Given the description of an element on the screen output the (x, y) to click on. 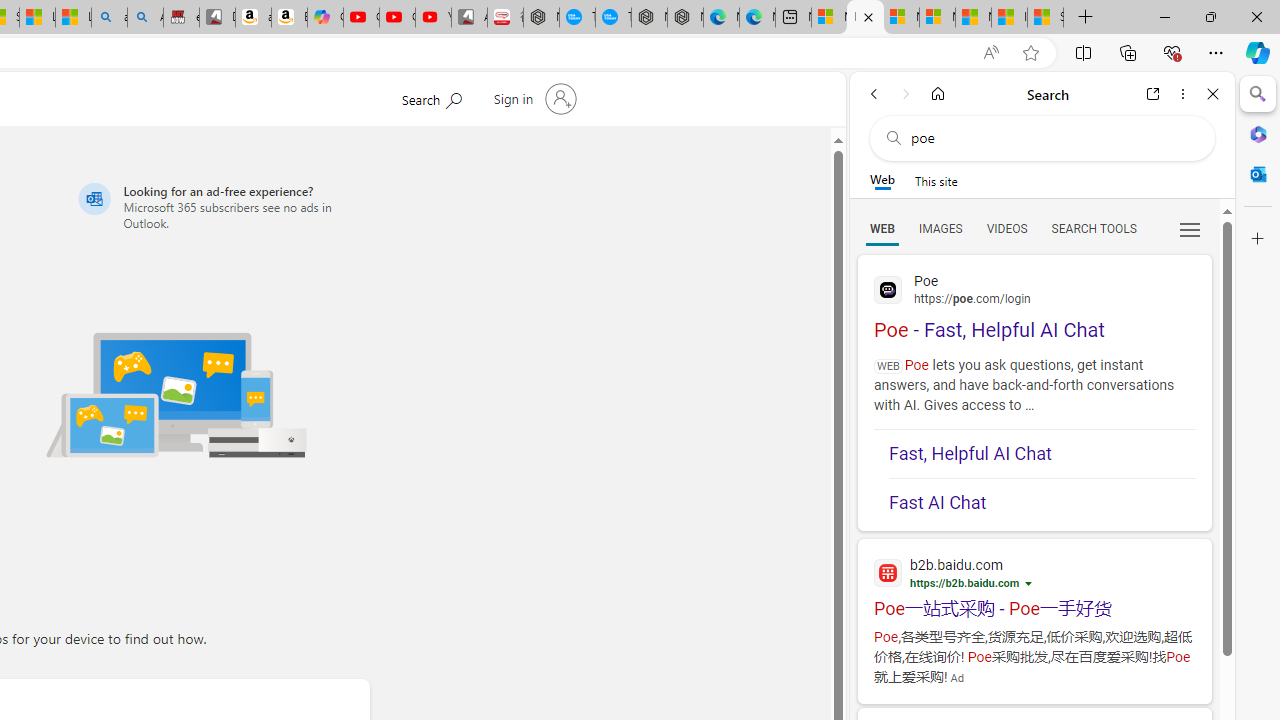
SERP,5400 (1034, 608)
Preferences (1189, 228)
Nordace - My Account (541, 17)
Gloom - YouTube (397, 17)
Search Filter, WEB (882, 228)
Search Microsoft.com (431, 97)
The most popular Google 'how to' searches (613, 17)
Learn how your ads are chosen (1029, 585)
WEB   (882, 228)
